Given the description of an element on the screen output the (x, y) to click on. 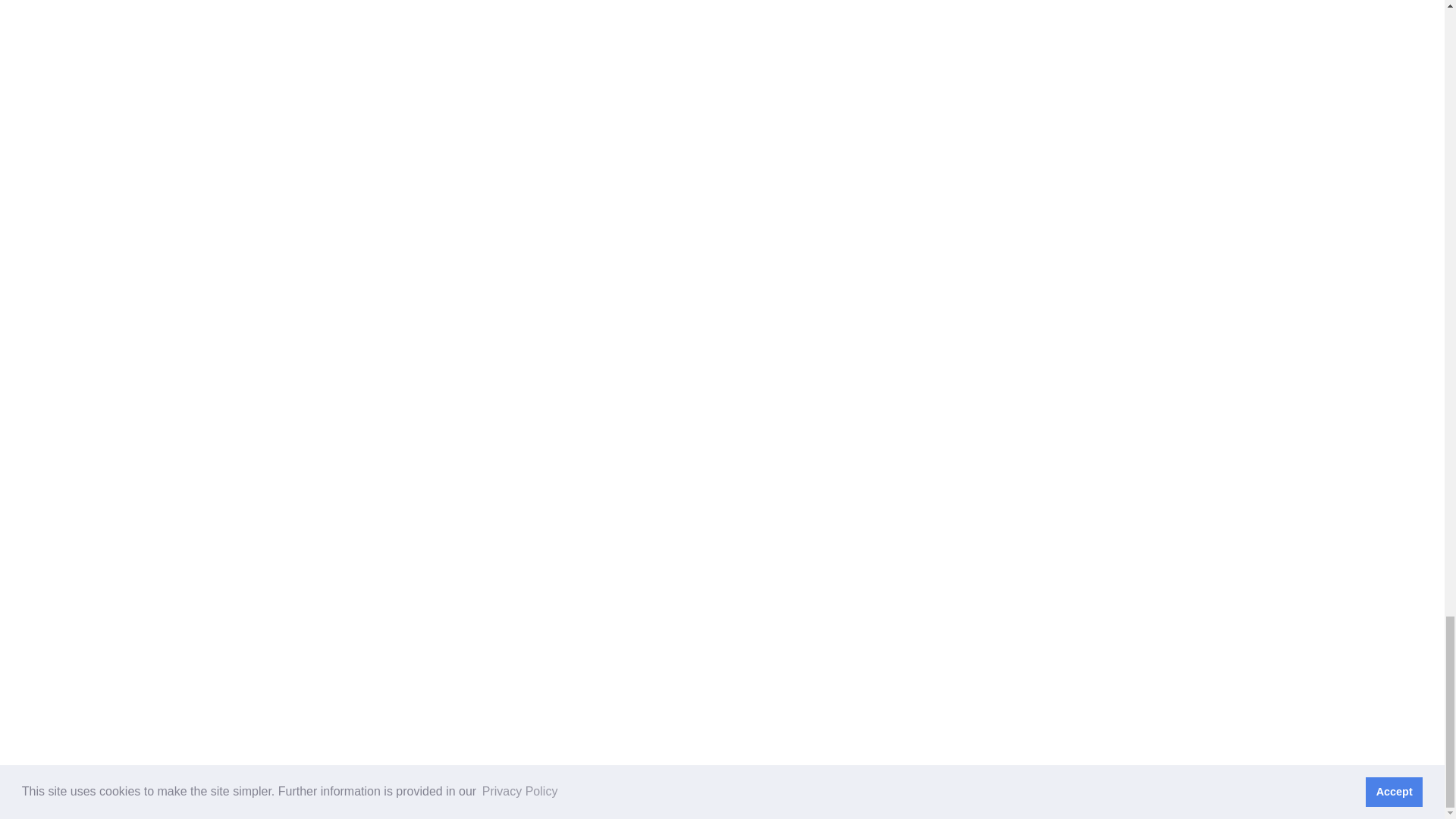
Subscribe (1040, 451)
